Given the description of an element on the screen output the (x, y) to click on. 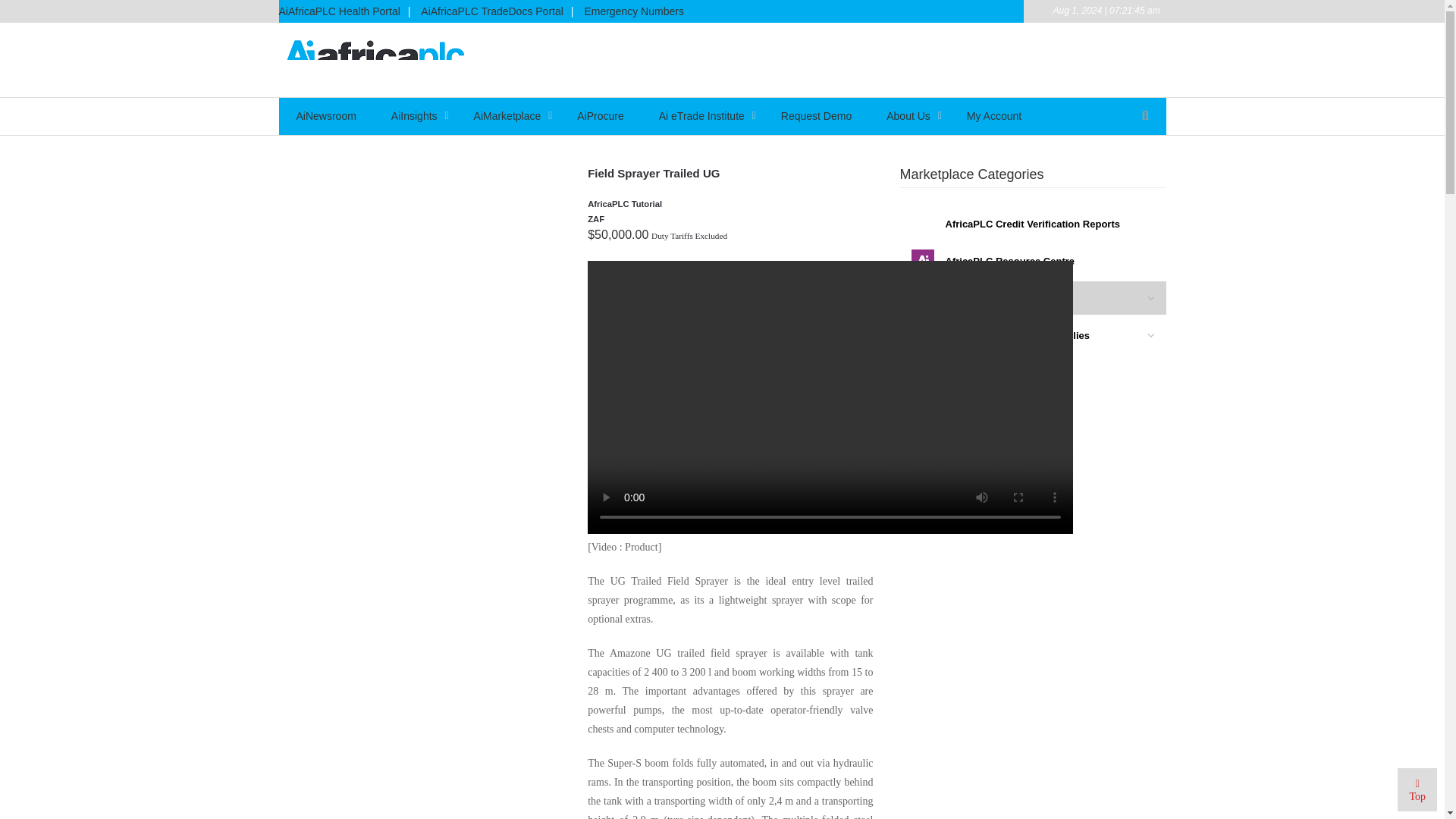
Emergency Numbers (633, 14)
AiNewsroom (326, 115)
AiAfricaPLC Health Portal (343, 14)
Request Demo (815, 115)
AiAfricaPLC TradeDocs Portal (491, 14)
About Us (909, 115)
Ai eTrade Institute (702, 115)
My Account (994, 115)
AiInsights (415, 115)
AiProcure (599, 115)
AiMarketplace (508, 115)
